Given the description of an element on the screen output the (x, y) to click on. 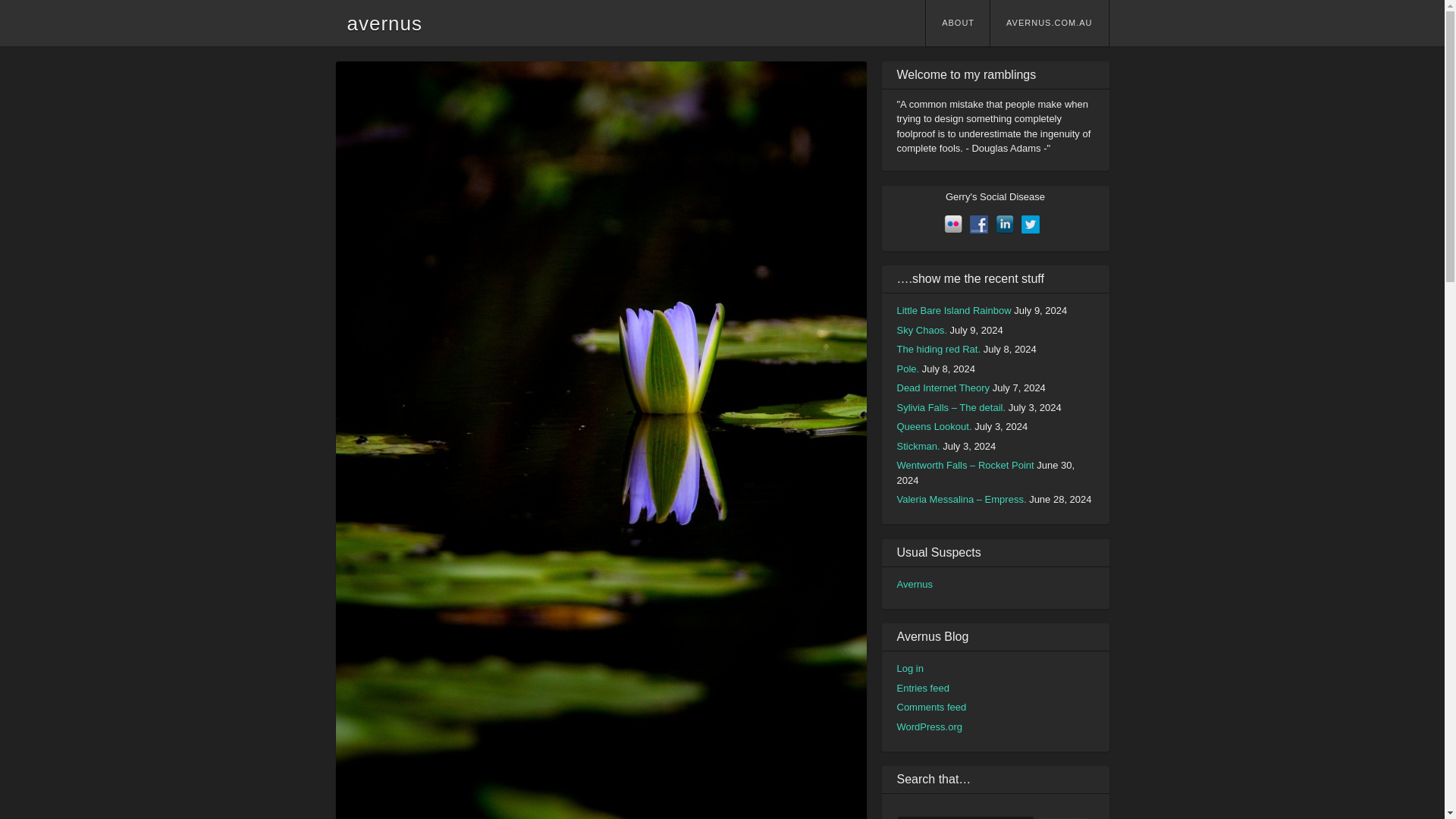
Search (1061, 818)
Find me on Facebook (978, 224)
Find me on Twitter (1029, 224)
Find me on LinkedIn (1003, 224)
ABOUT (958, 22)
avernus.com.au (1049, 22)
avernus (385, 23)
Find me on Flickr (951, 224)
avernus (385, 23)
Avernus Home (913, 583)
AVERNUS.COM.AU (1049, 22)
